Given the description of an element on the screen output the (x, y) to click on. 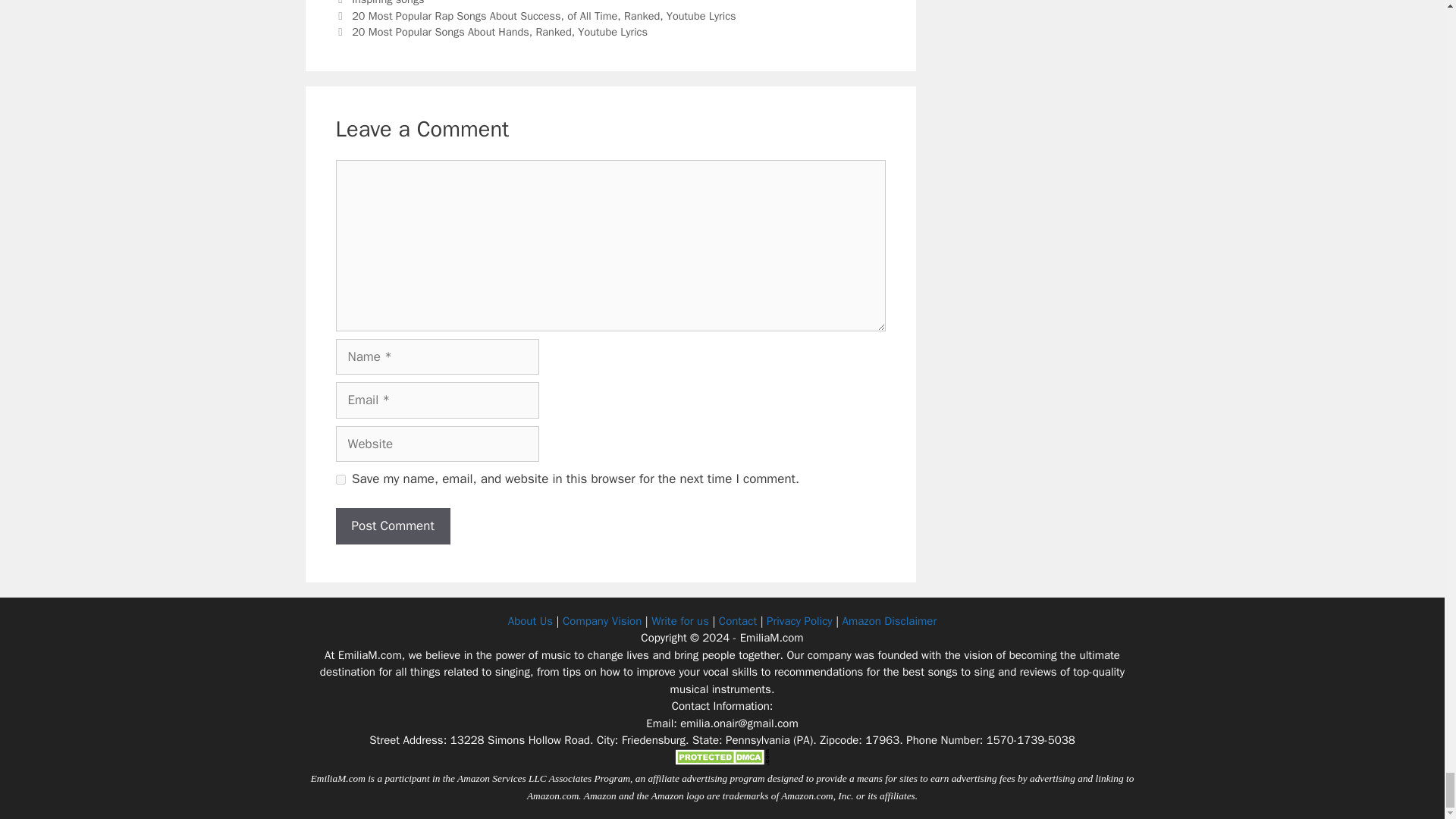
Post Comment (391, 525)
yes (339, 479)
